Given the description of an element on the screen output the (x, y) to click on. 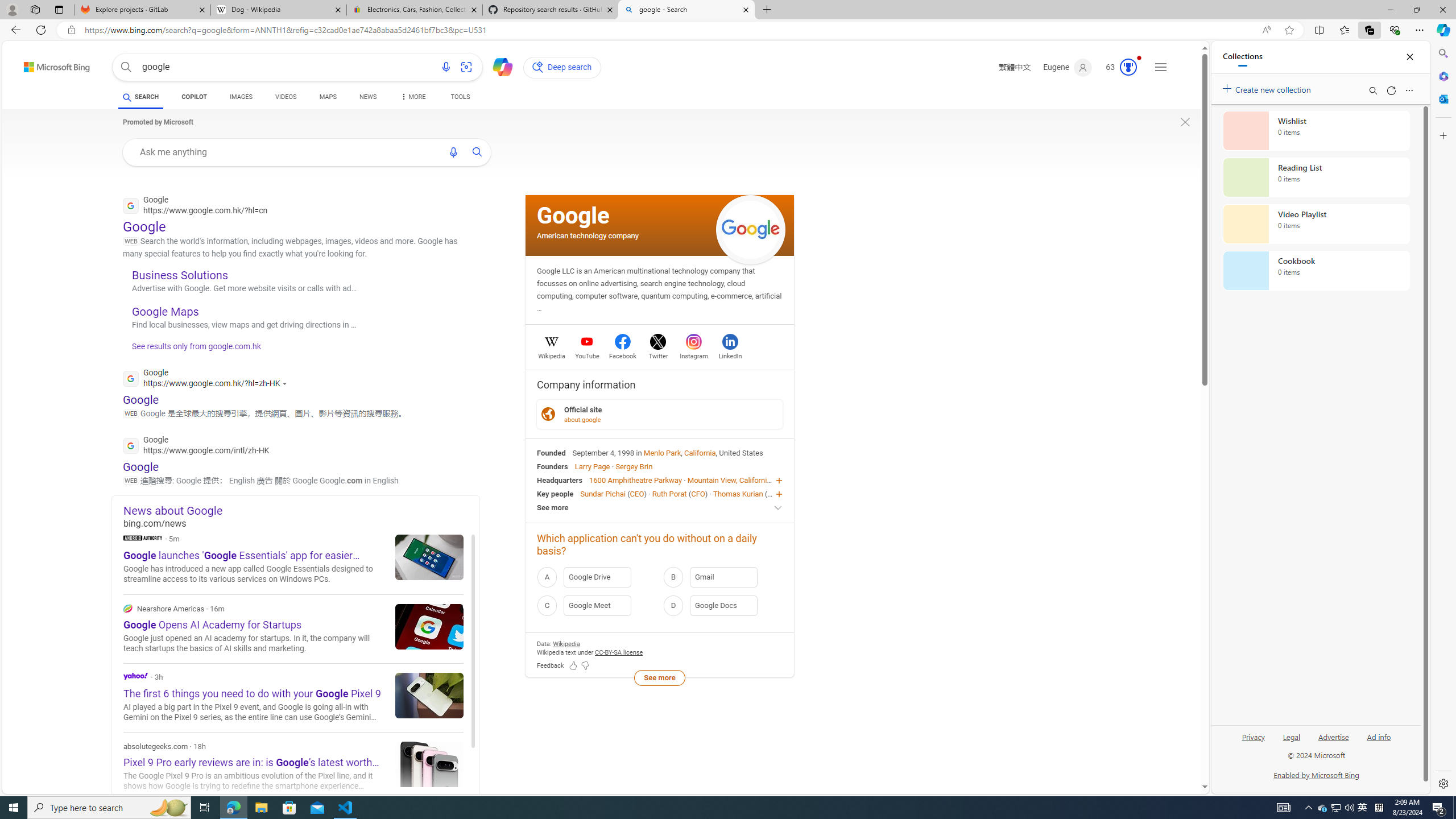
SEARCH (140, 96)
Reading List collection, 0 items (1316, 177)
Chat (497, 65)
VIDEOS (285, 98)
See more (659, 677)
Legal (1292, 741)
American technology company (588, 234)
Key people (555, 492)
google - Search (685, 9)
1600 Amphitheatre Parkway (635, 479)
